Given the description of an element on the screen output the (x, y) to click on. 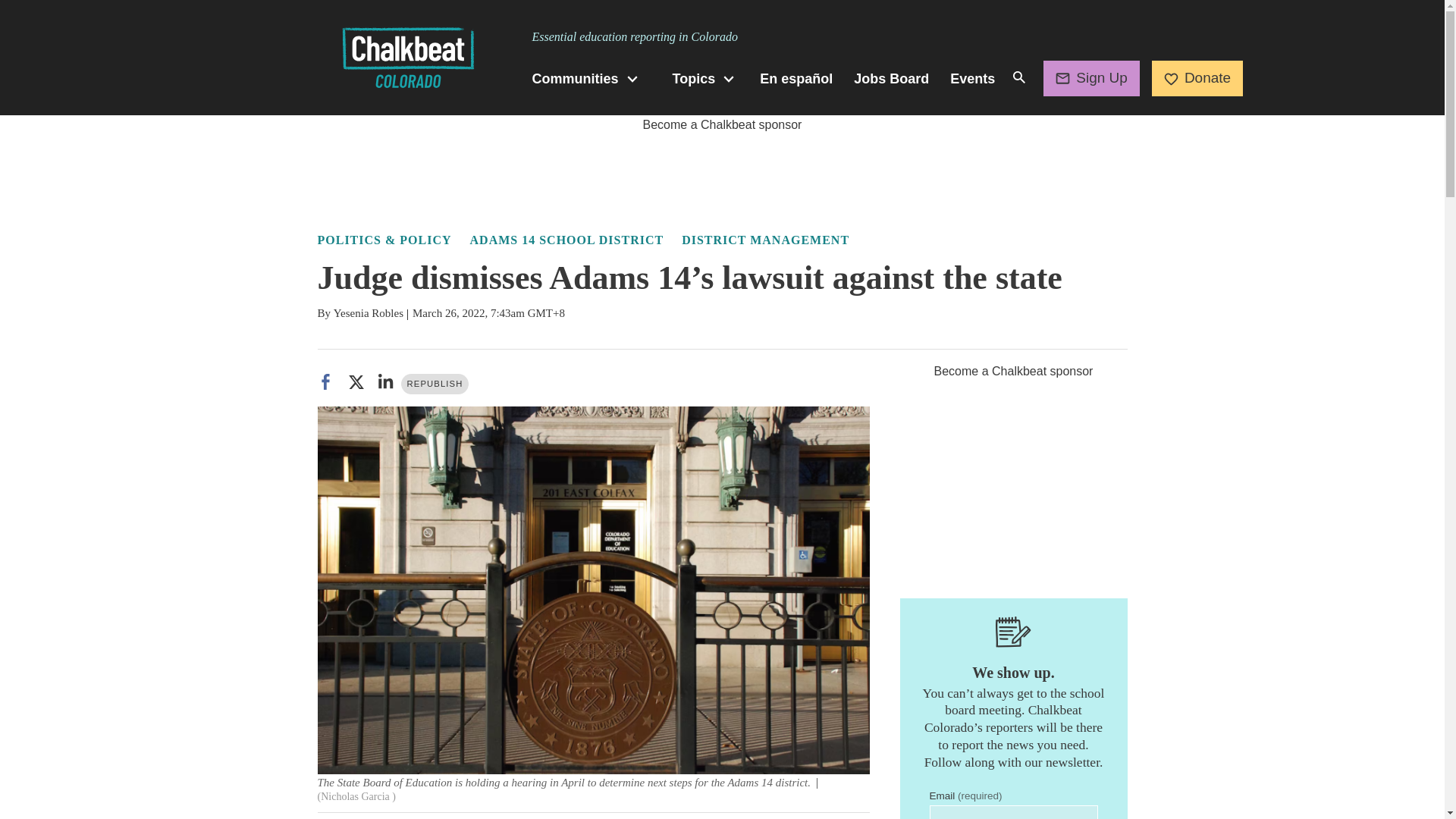
Donate (1197, 77)
Sign Up (1091, 77)
Become a Chalkbeat sponsor (722, 124)
Jobs Board (890, 79)
Events (972, 79)
